Given the description of an element on the screen output the (x, y) to click on. 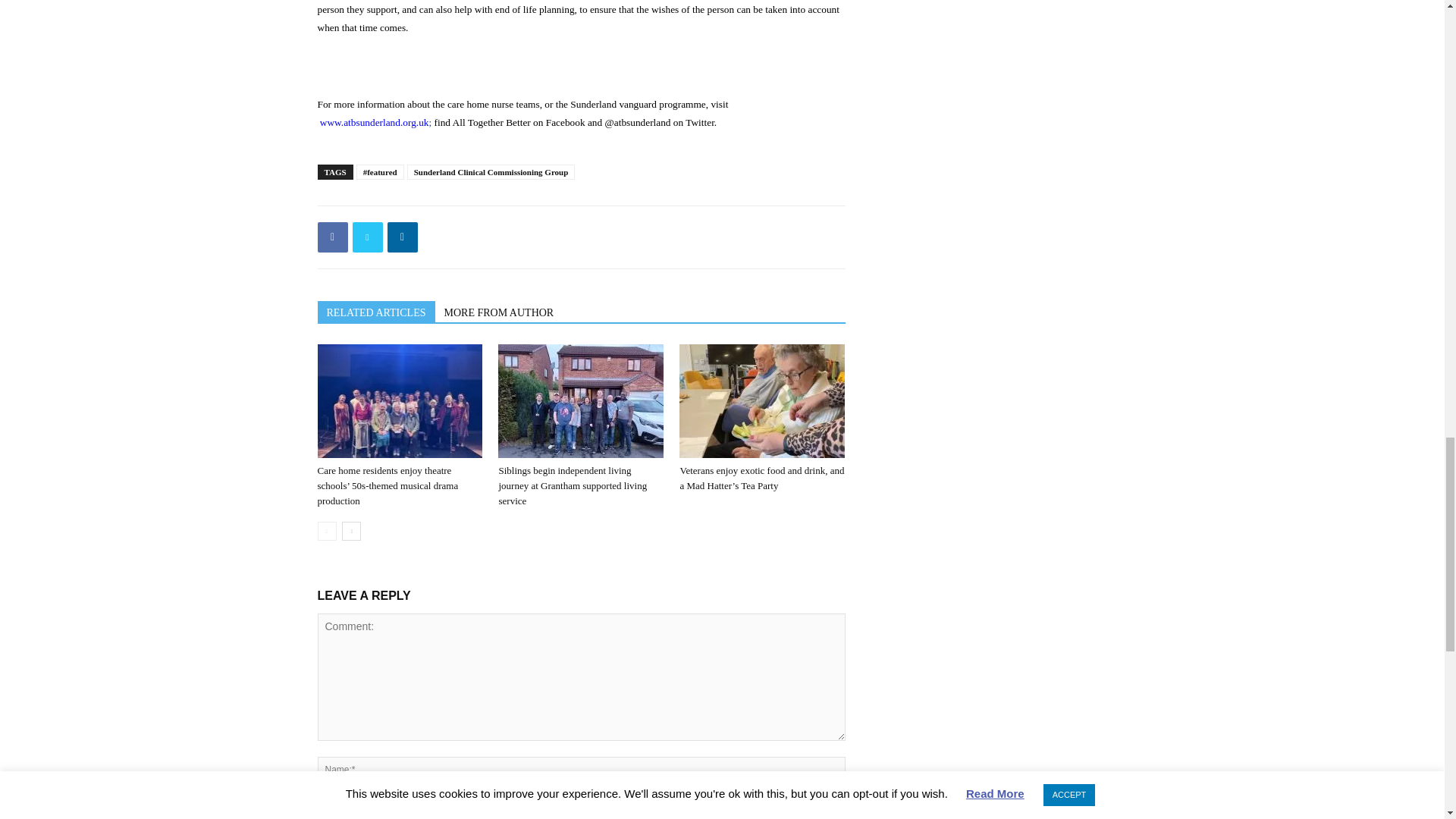
www.atbsunderland.org.uk (374, 122)
RELATED ARTICLES (375, 311)
Linkedin (401, 236)
Sunderland Clinical Commissioning Group (491, 171)
Twitter (366, 236)
Facebook (332, 236)
